Given the description of an element on the screen output the (x, y) to click on. 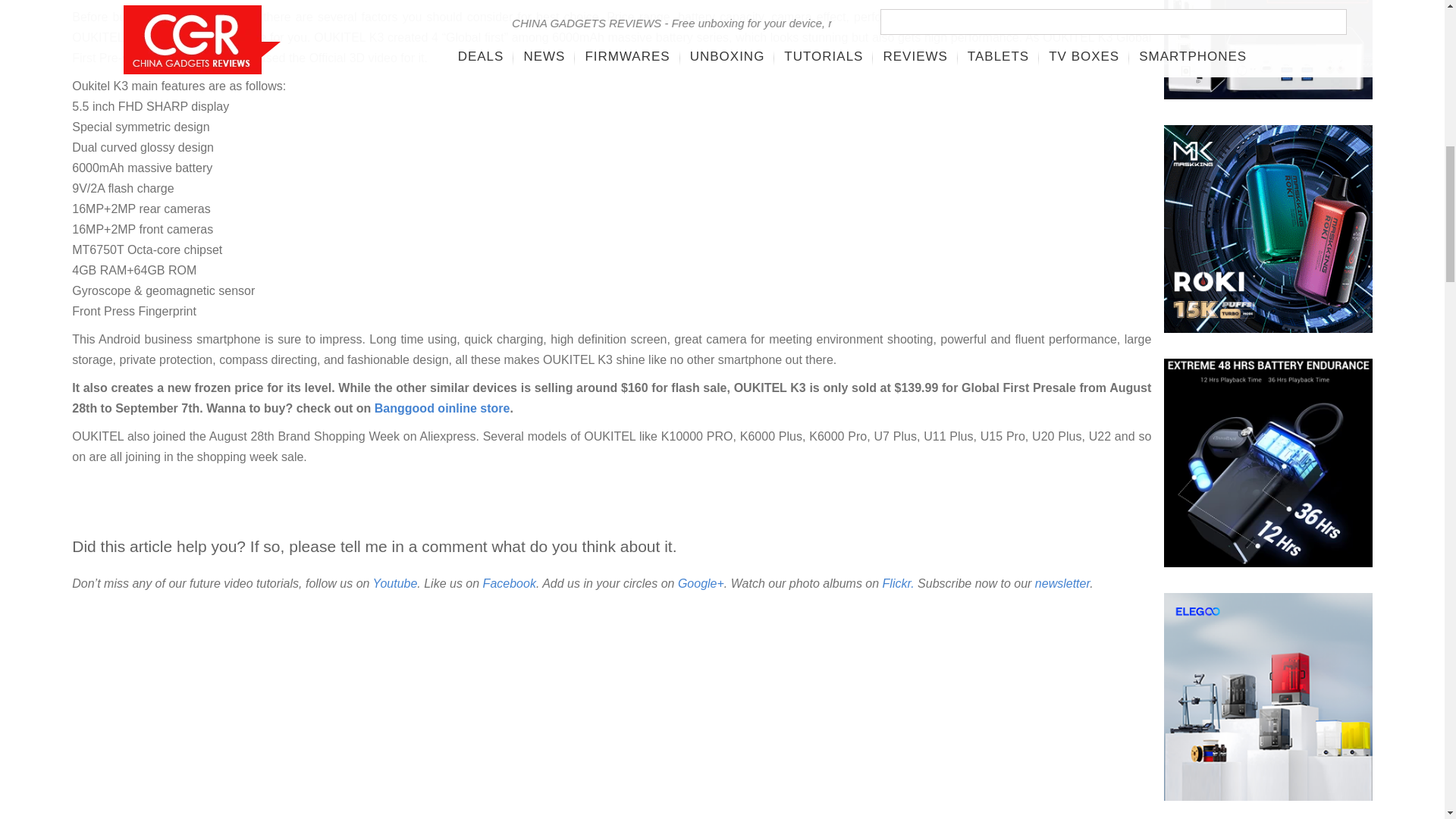
newsletter (1062, 583)
Flickr. (898, 583)
Youtube (394, 583)
Banggood oinline store (442, 408)
Facebook (509, 583)
